Given the description of an element on the screen output the (x, y) to click on. 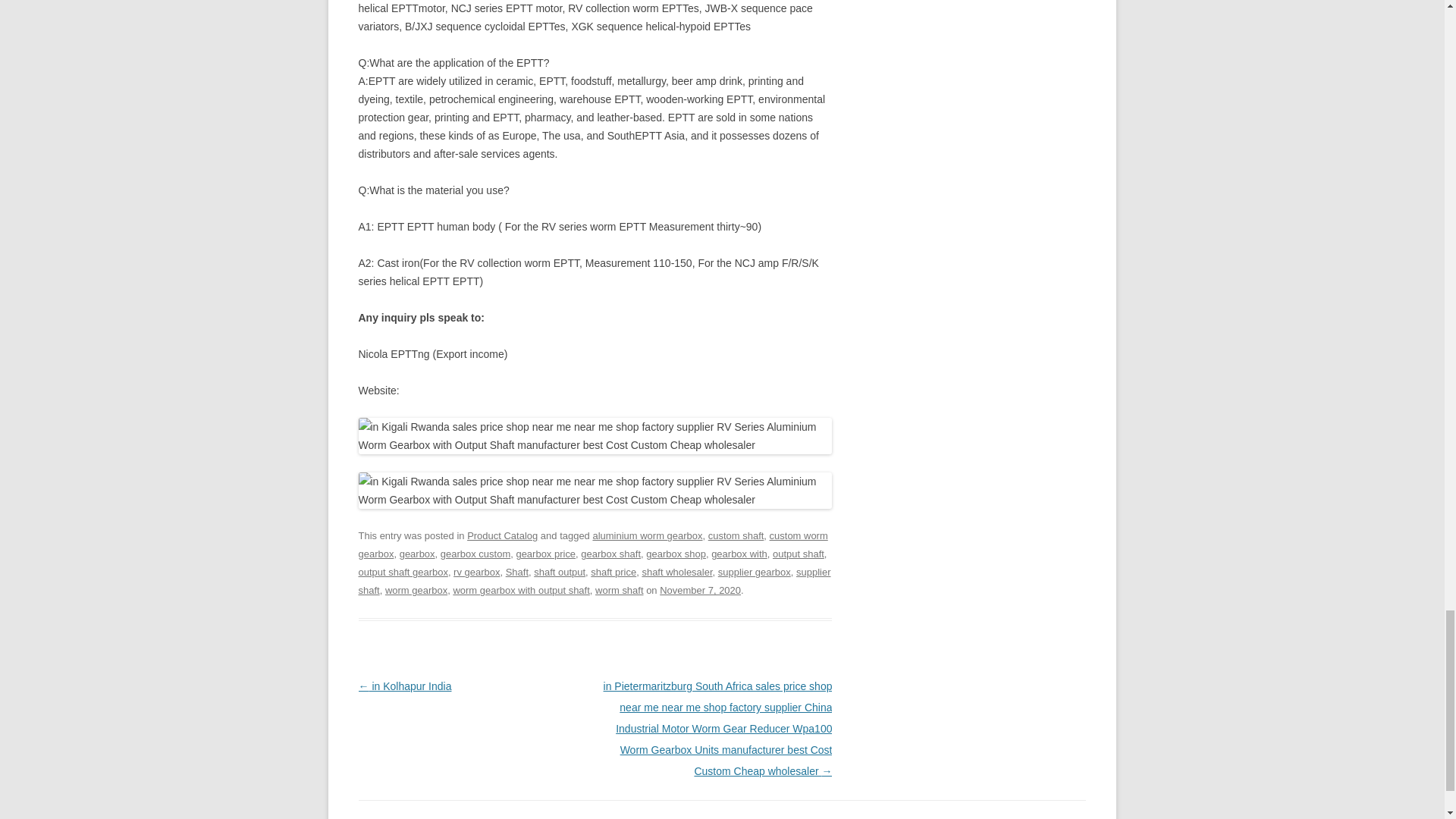
shaft price (613, 572)
gearbox custom (476, 553)
Shaft (516, 572)
supplier gearbox (753, 572)
supplier shaft (593, 581)
aluminium worm gearbox (646, 535)
output shaft (798, 553)
gearbox (416, 553)
gearbox price (545, 553)
output shaft gearbox (402, 572)
